Given the description of an element on the screen output the (x, y) to click on. 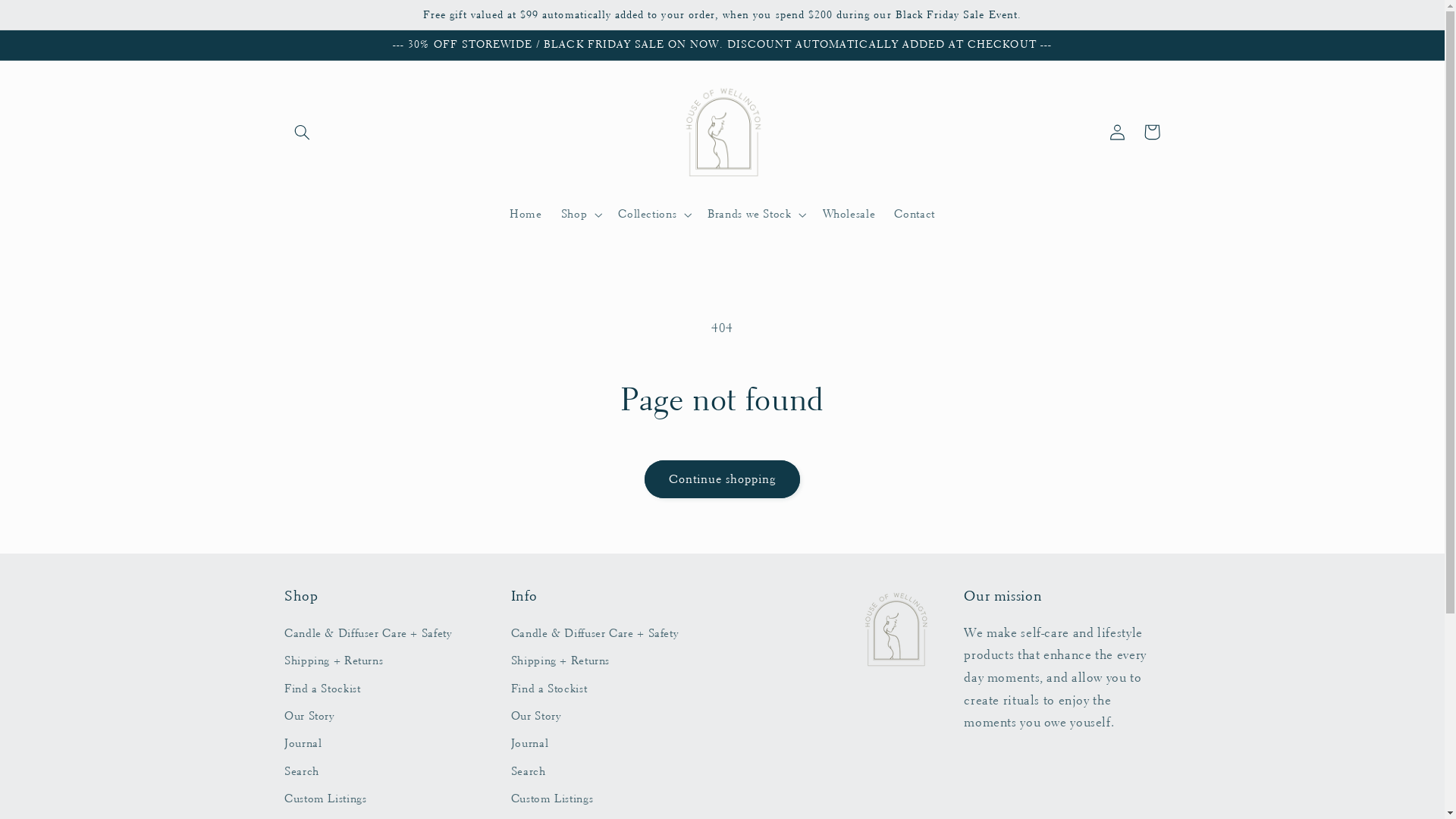
Continue shopping Element type: text (722, 478)
Custom Listings Element type: text (552, 798)
Cart Element type: text (1151, 131)
Shipping + Returns Element type: text (560, 660)
Home Element type: text (526, 214)
Search Element type: text (301, 770)
Find a Stockist Element type: text (322, 688)
Search Element type: text (528, 770)
Find a Stockist Element type: text (548, 688)
Contact Element type: text (914, 214)
Journal Element type: text (302, 743)
Candle & Diffuser Care + Safety Element type: text (367, 635)
Wholesale Element type: text (848, 214)
Our Story Element type: text (536, 716)
Candle & Diffuser Care + Safety Element type: text (594, 635)
Our Story Element type: text (309, 716)
Journal Element type: text (529, 743)
Custom Listings Element type: text (325, 798)
Shipping + Returns Element type: text (333, 660)
Log in Element type: text (1116, 131)
